Given the description of an element on the screen output the (x, y) to click on. 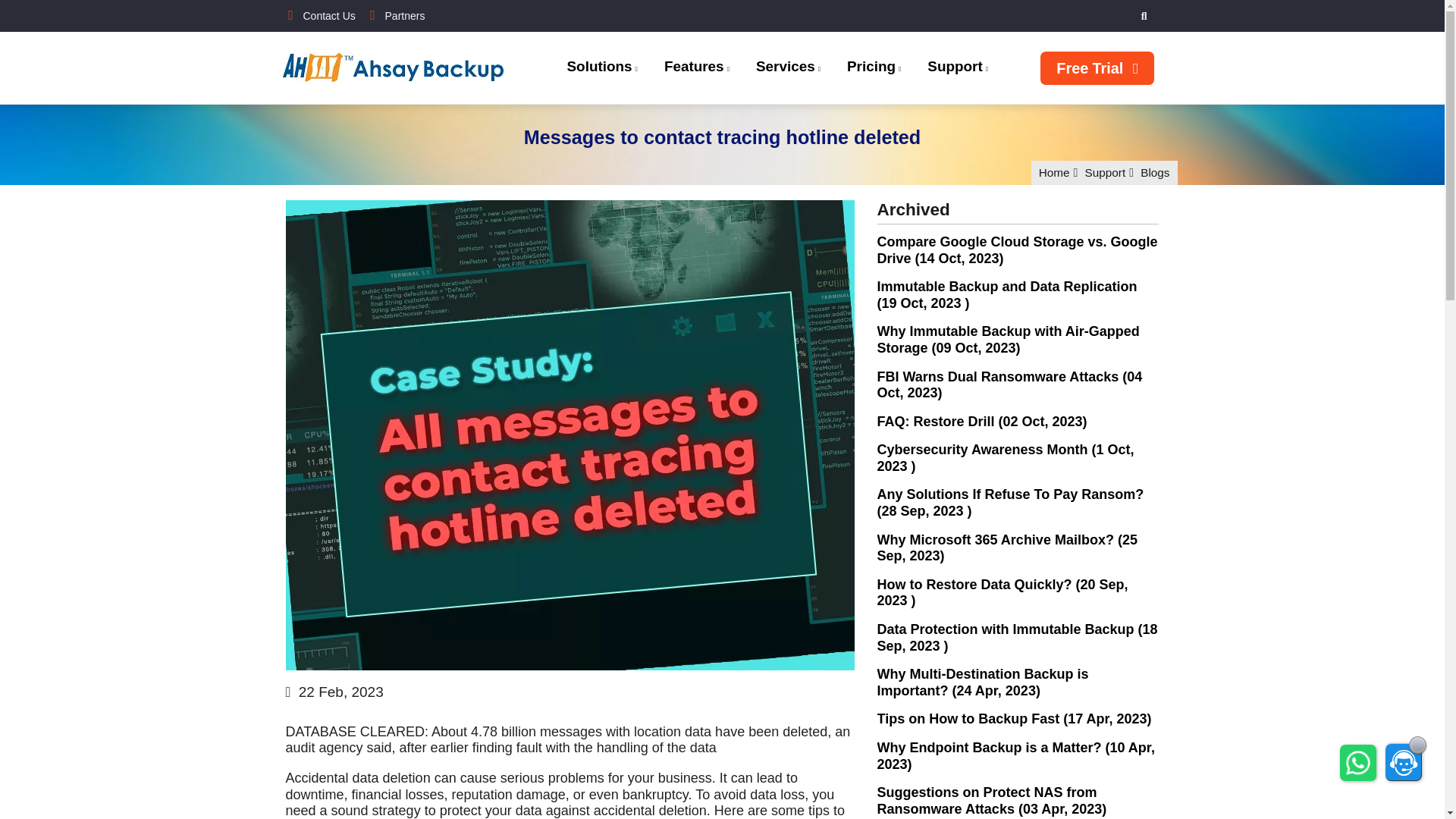
Partners (395, 15)
Contact Us (319, 15)
Live Chat is offline. Click here to leave a message. (1404, 761)
Home (401, 69)
Solutions (600, 67)
